Given the description of an element on the screen output the (x, y) to click on. 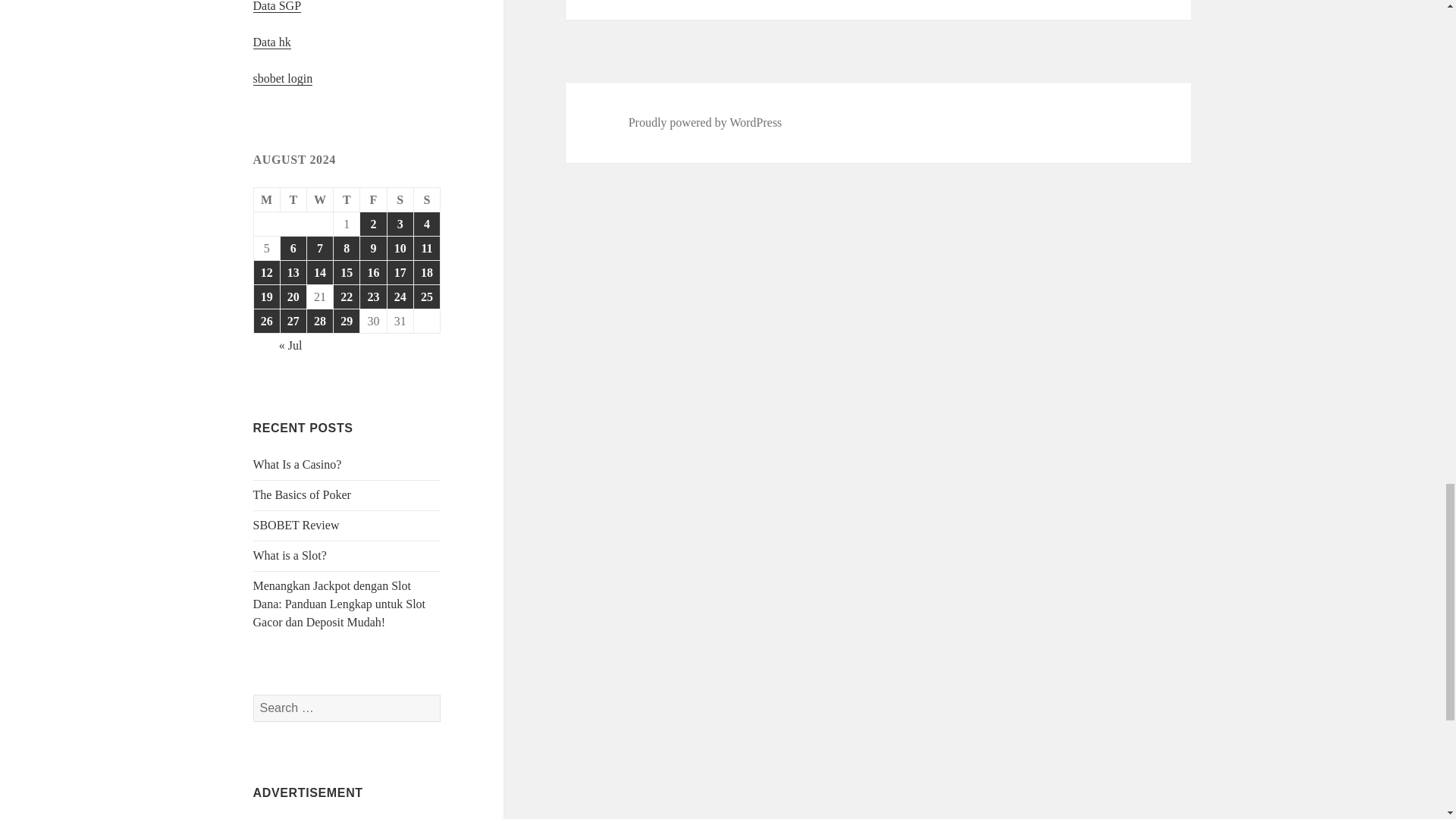
Saturday (400, 200)
Wednesday (320, 200)
Monday (267, 200)
Sunday (427, 200)
Thursday (346, 200)
Tuesday (294, 200)
Friday (373, 200)
